Given the description of an element on the screen output the (x, y) to click on. 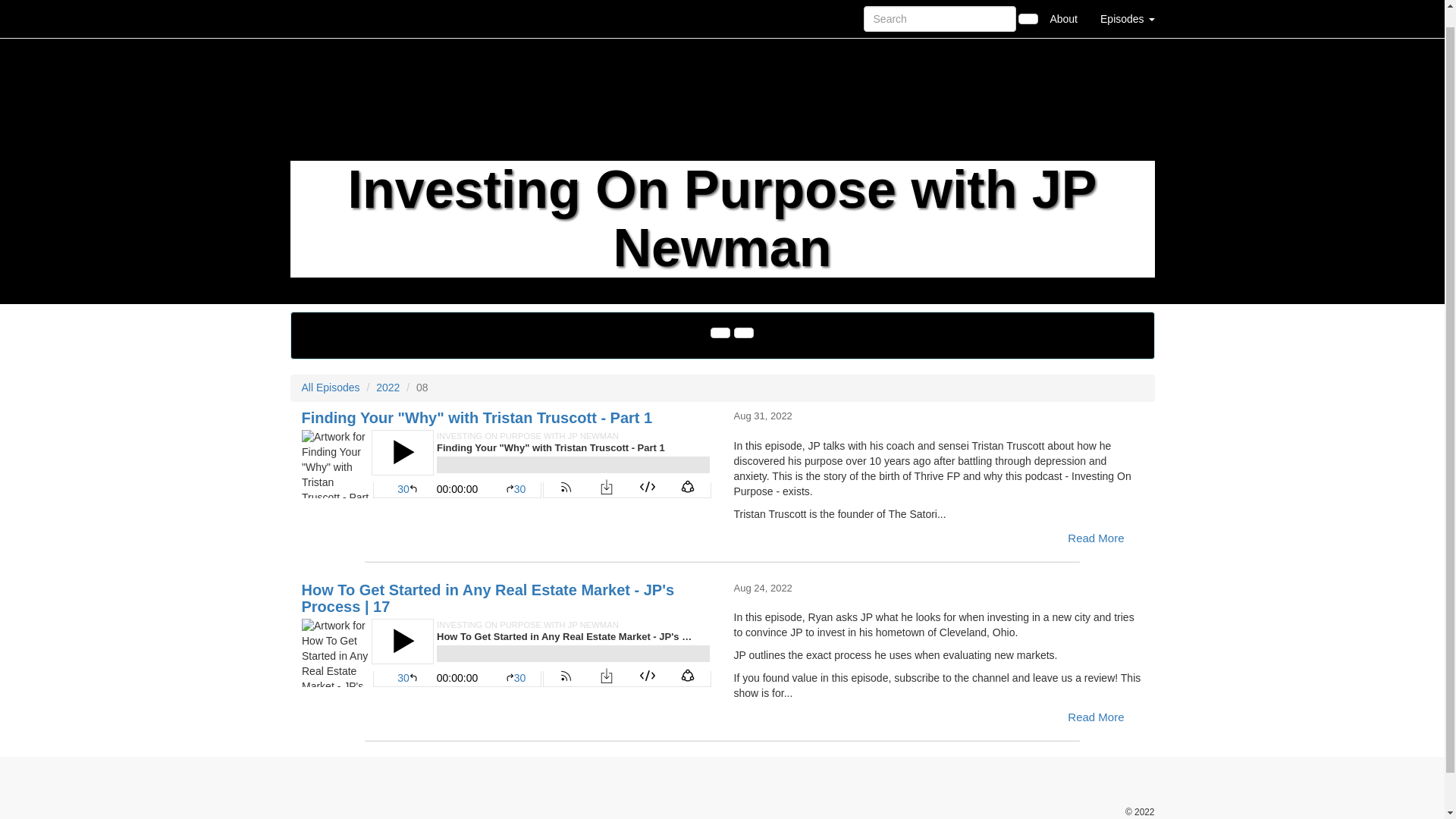
All Episodes (330, 387)
Home Page (320, 9)
Finding Your "Why" with Tristan Truscott - Part 1 (506, 463)
2022 (386, 387)
Finding Your "Why" with Tristan Truscott - Part 1 (476, 417)
About (1063, 9)
Episodes (1127, 9)
